Given the description of an element on the screen output the (x, y) to click on. 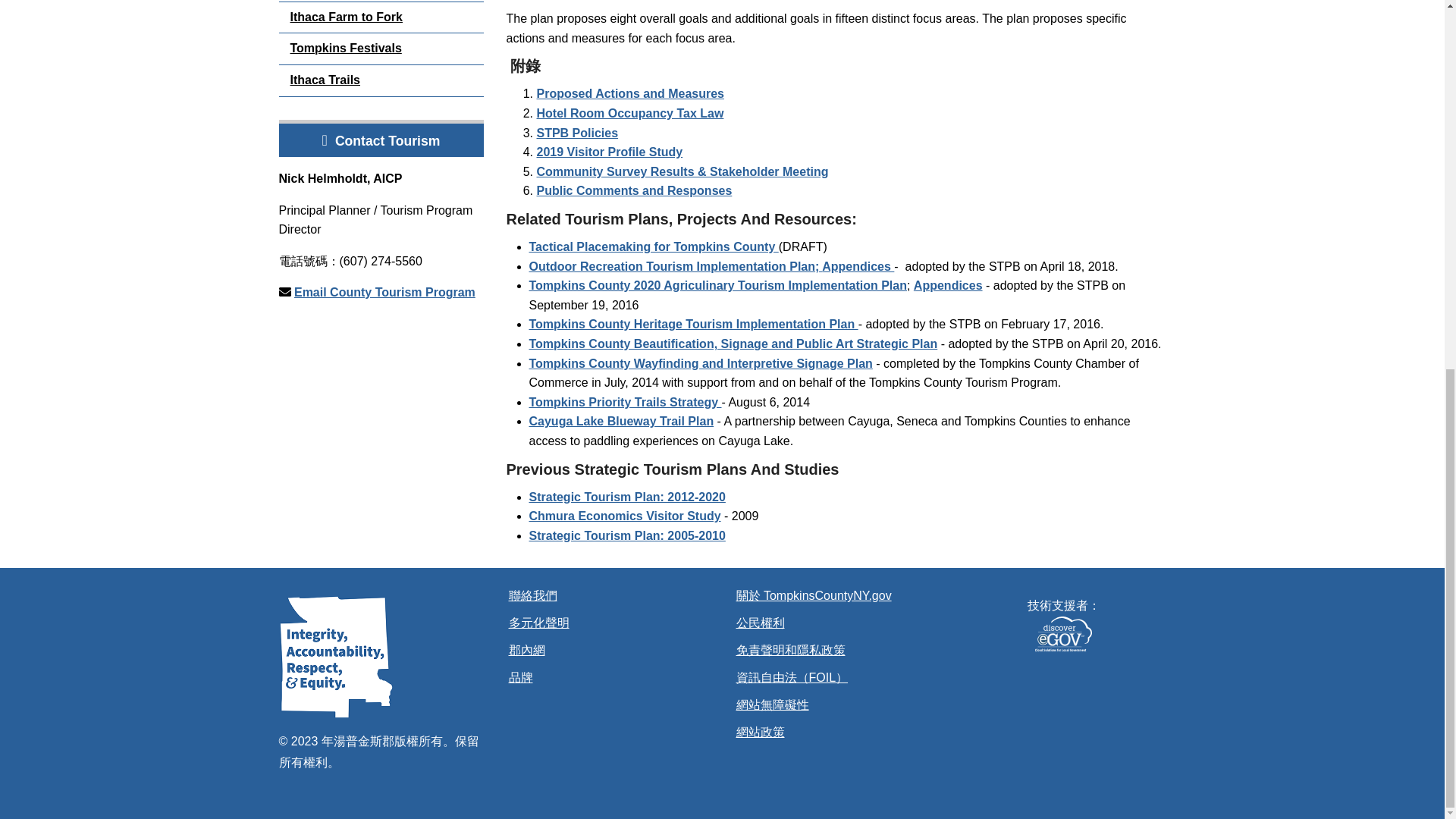
2019 Visitor Profile Study (609, 151)
STPB Policies (577, 132)
Appendices (948, 285)
; (818, 266)
Proposed Actions and Measures (630, 92)
Tactical Placemaking for Tompkins County (653, 246)
Hotel Room Occupancy Tax Law (630, 113)
Appendices (857, 266)
Outdoor Recreation Tourism Implementation Plan (672, 266)
Public Comments and Responses (634, 190)
